Given the description of an element on the screen output the (x, y) to click on. 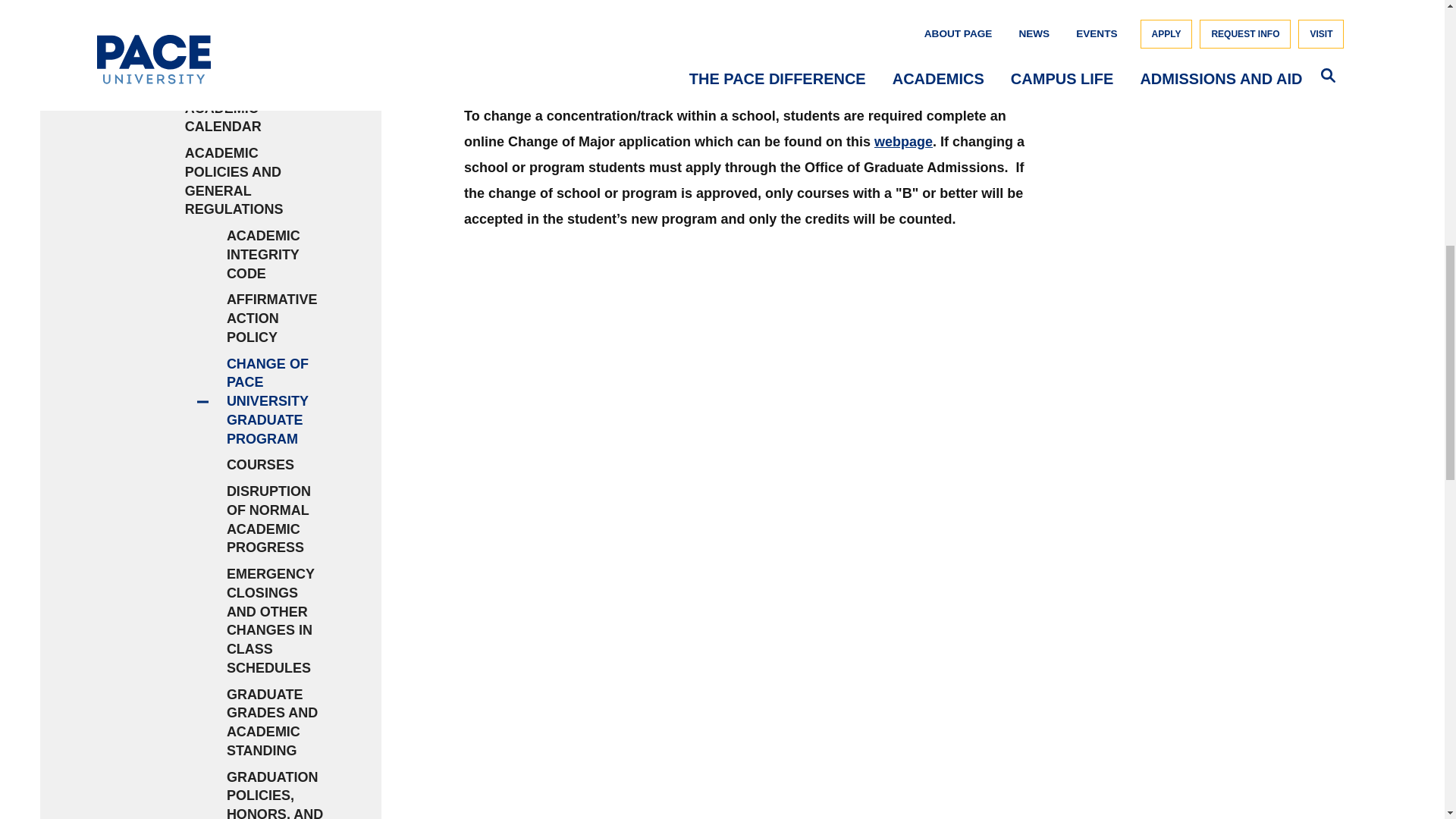
ACADEMIC INTEGRITY CODE (275, 254)
COURSES (275, 465)
CHANGE OF PACE UNIVERSITY GRADUATE PROGRAM (275, 401)
GRADUATE (181, 47)
AFFIRMATIVE ACTION POLICY (275, 318)
ACADEMIC CALENDAR (254, 118)
ACADEMIC (224, 79)
ACADEMIC POLICIES AND GENERAL REGULATIONS (254, 181)
UNDERGRADUATE (181, 15)
